Given the description of an element on the screen output the (x, y) to click on. 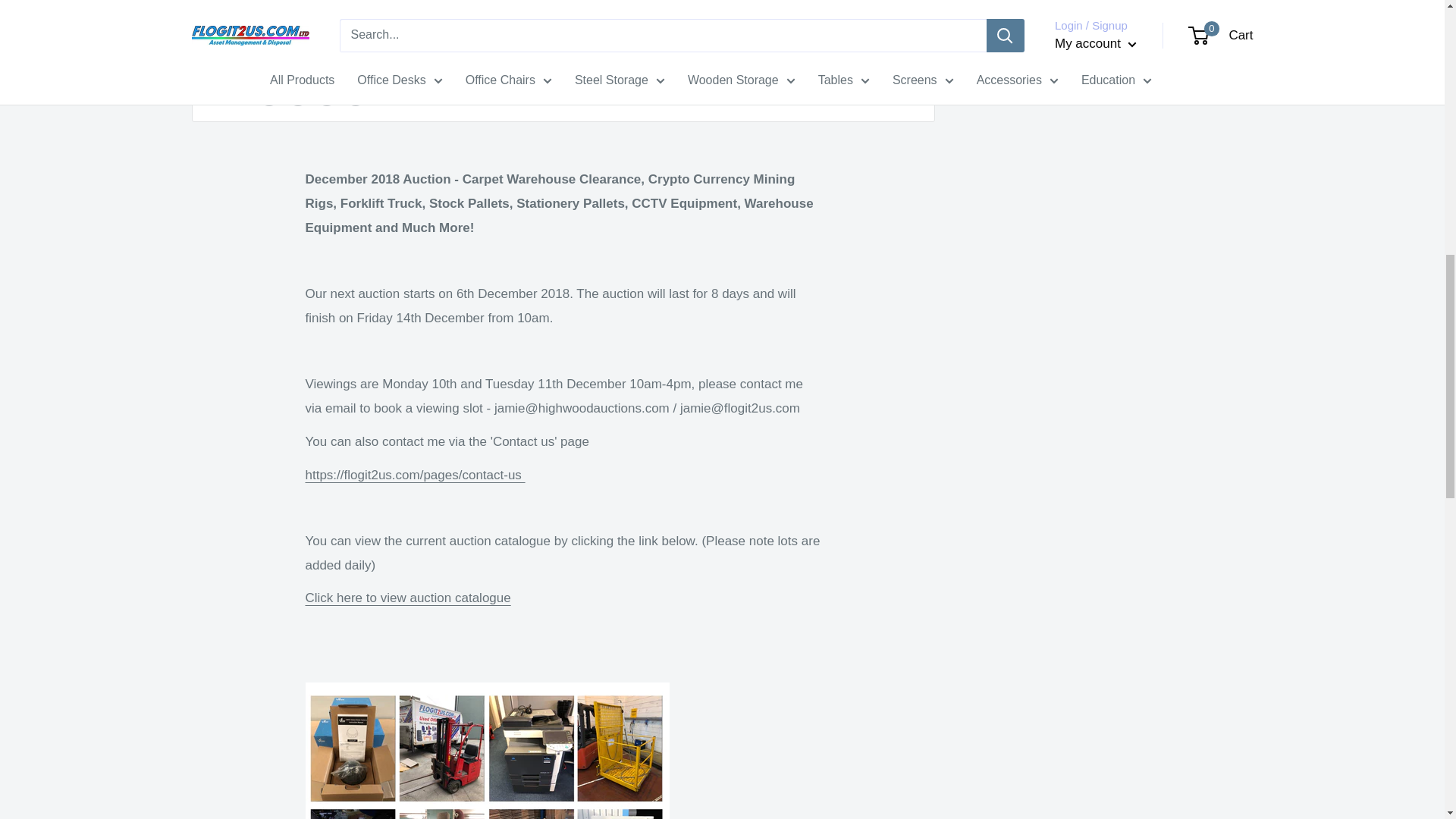
Click here to view auction catalogue  (407, 597)
